Given the description of an element on the screen output the (x, y) to click on. 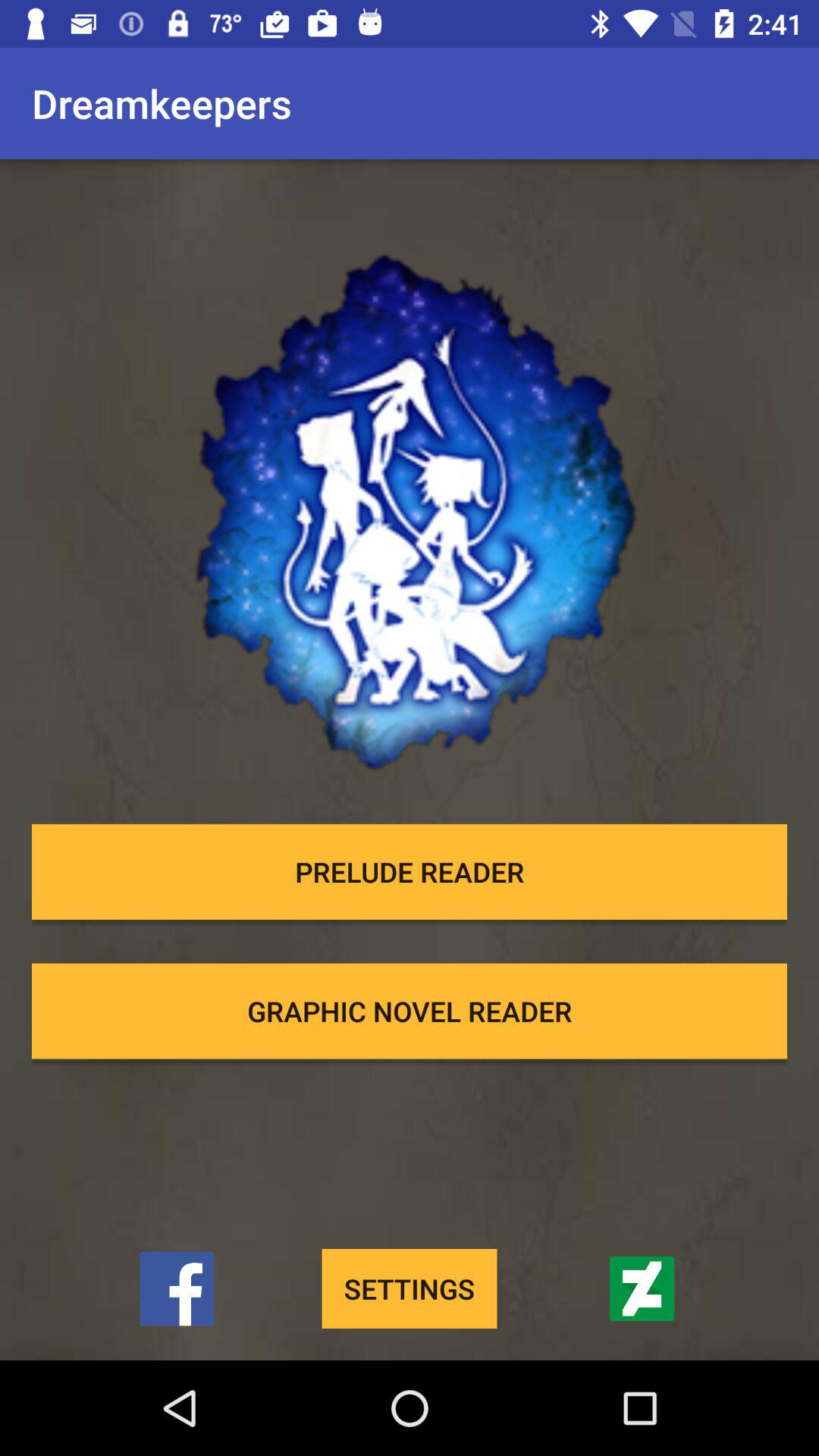
open graphic novel reader item (409, 1011)
